Given the description of an element on the screen output the (x, y) to click on. 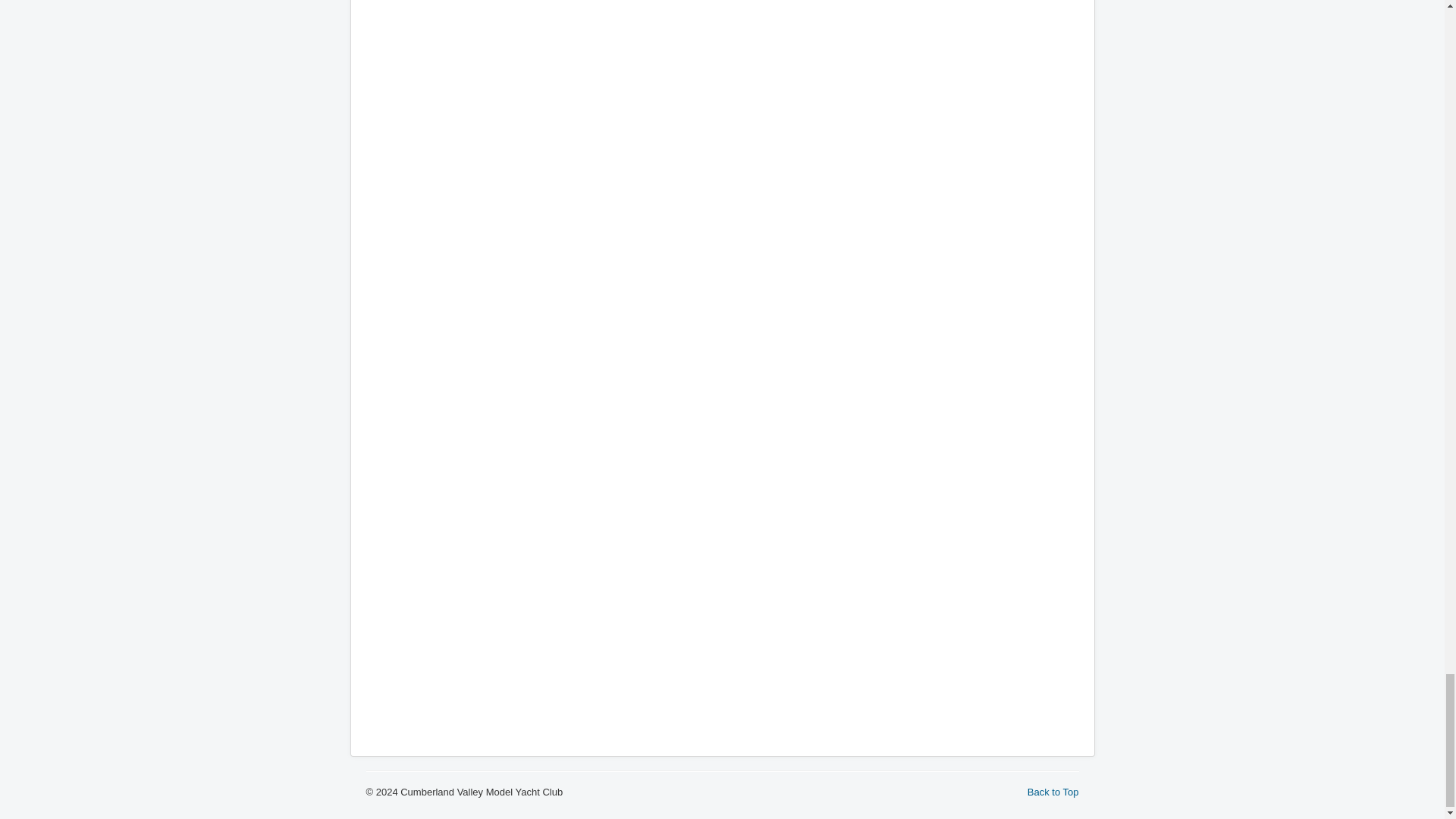
Back to Top (1052, 791)
